Given the description of an element on the screen output the (x, y) to click on. 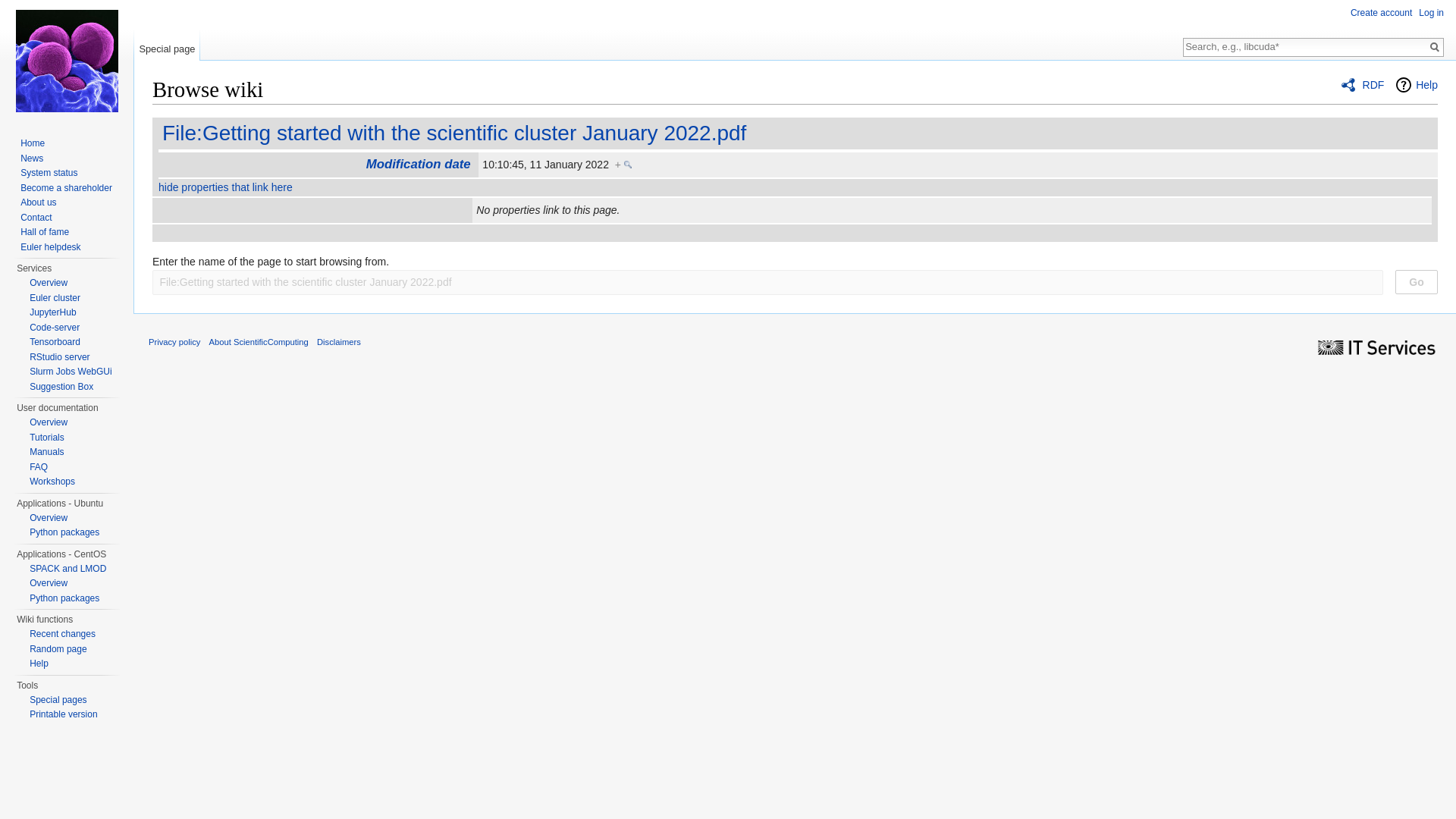
Create account (1381, 12)
Go to a page with this exact name if it exists (1434, 46)
News (31, 158)
hide properties that link here (225, 186)
Euler cluster (54, 297)
Visit the main page (66, 60)
Euler helpdesk (50, 245)
Suggestion Box (61, 385)
Become a shareholder (66, 186)
Help (1416, 85)
